Given the description of an element on the screen output the (x, y) to click on. 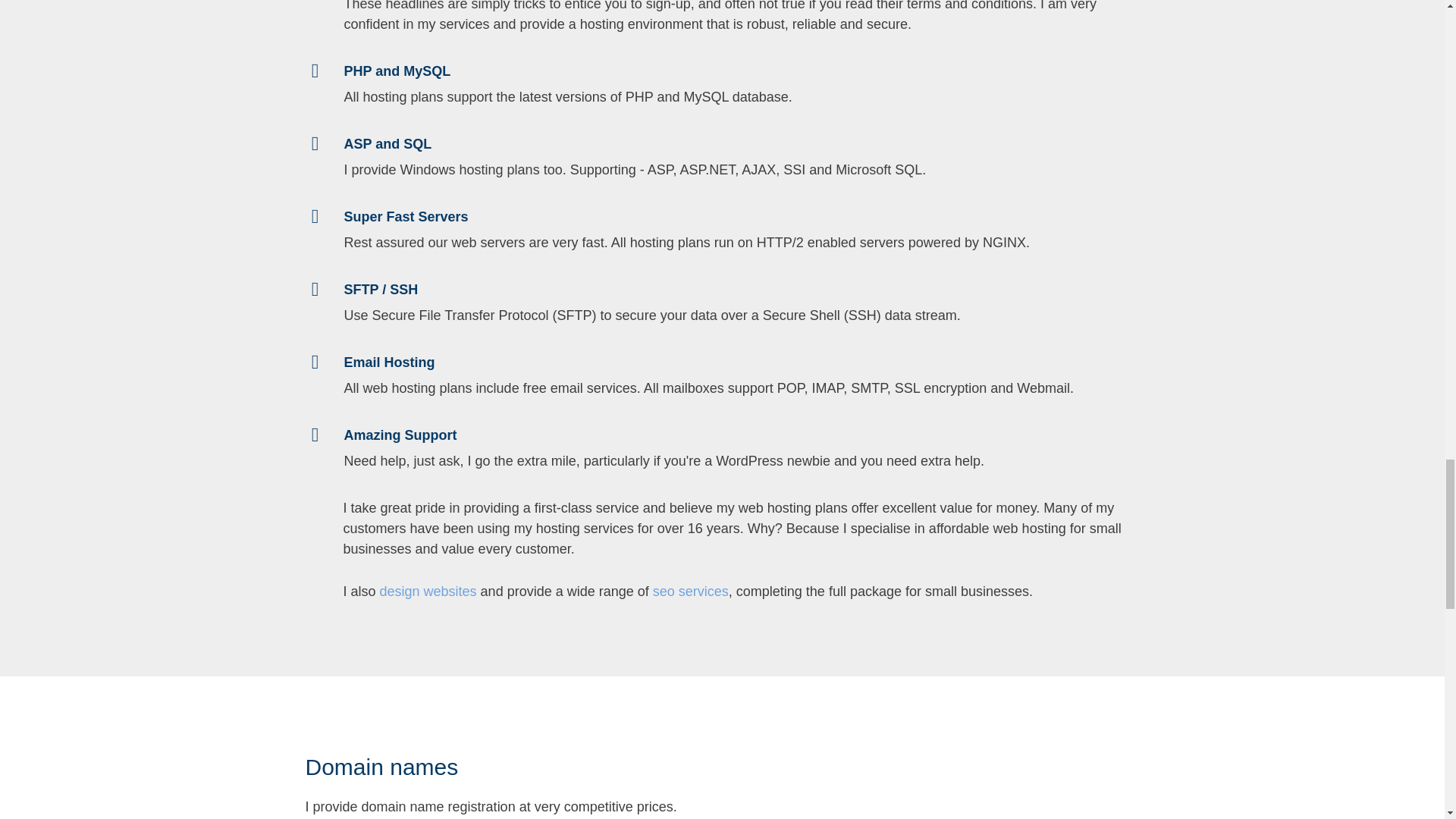
design websites (428, 590)
seo services (690, 590)
